Given the description of an element on the screen output the (x, y) to click on. 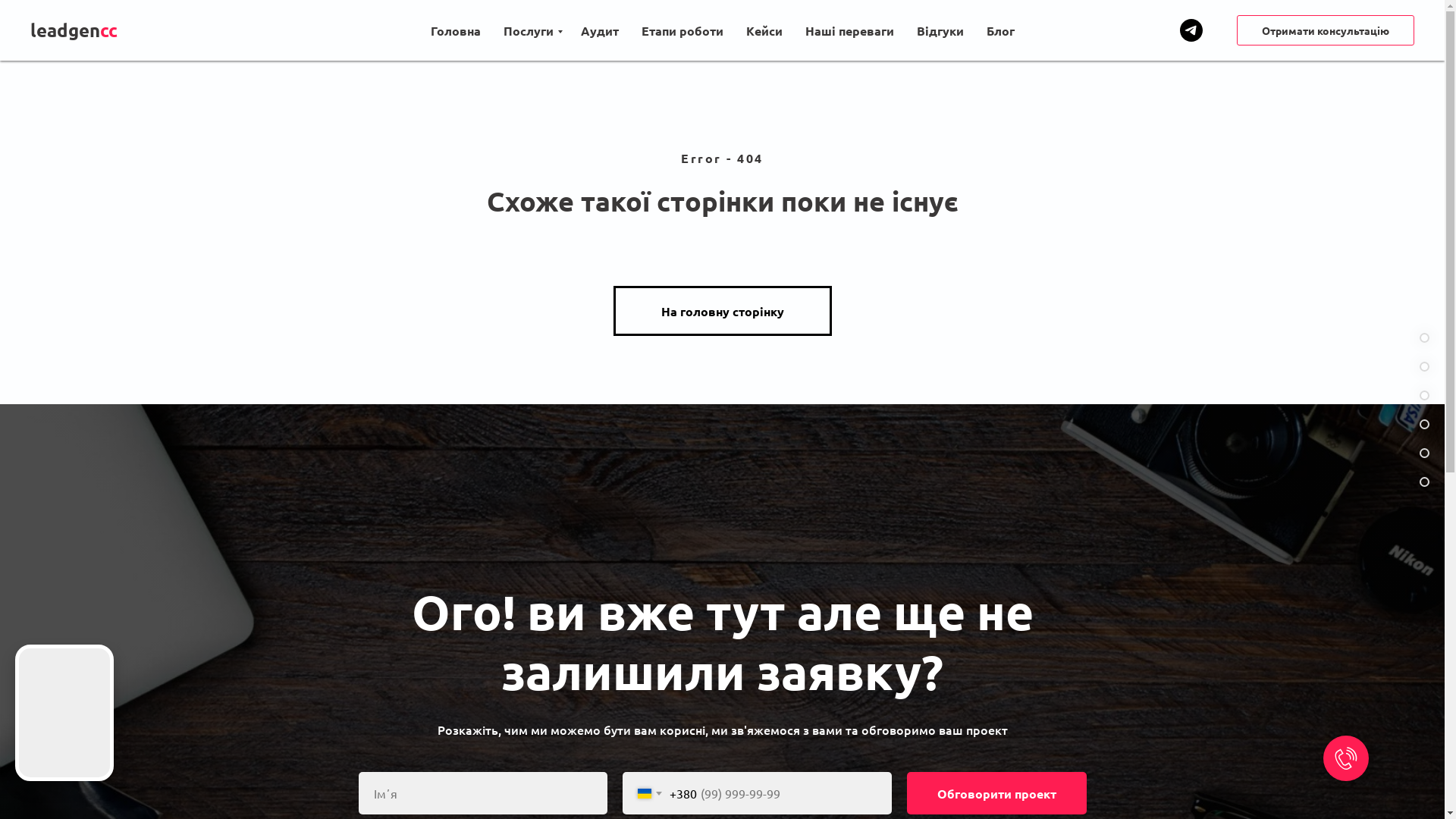
leadgencc Element type: text (85, 30)
